Given the description of an element on the screen output the (x, y) to click on. 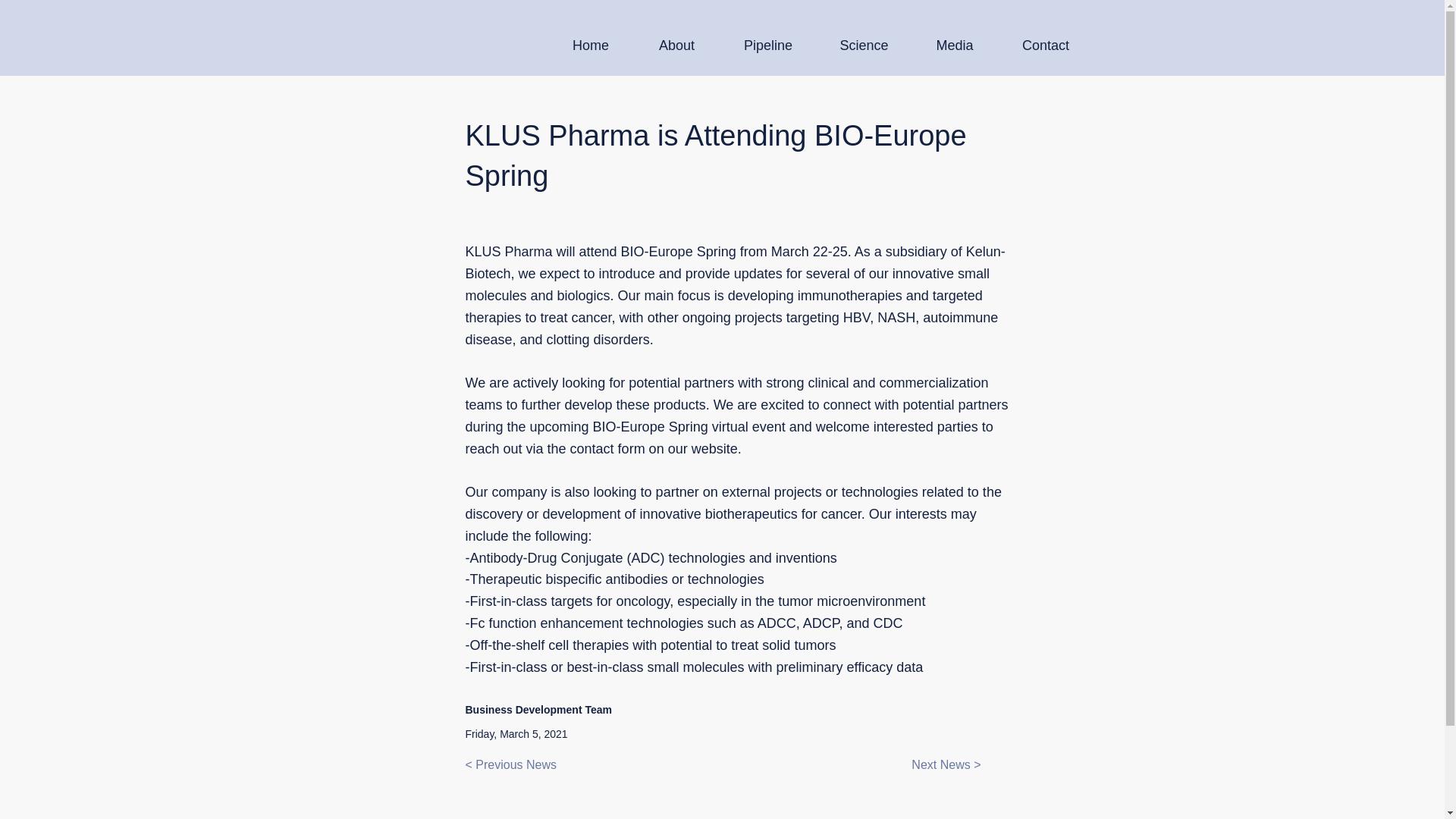
Home (590, 45)
About (676, 45)
Science (863, 45)
Media (954, 45)
Pipeline (768, 45)
Contact (1045, 45)
